Given the description of an element on the screen output the (x, y) to click on. 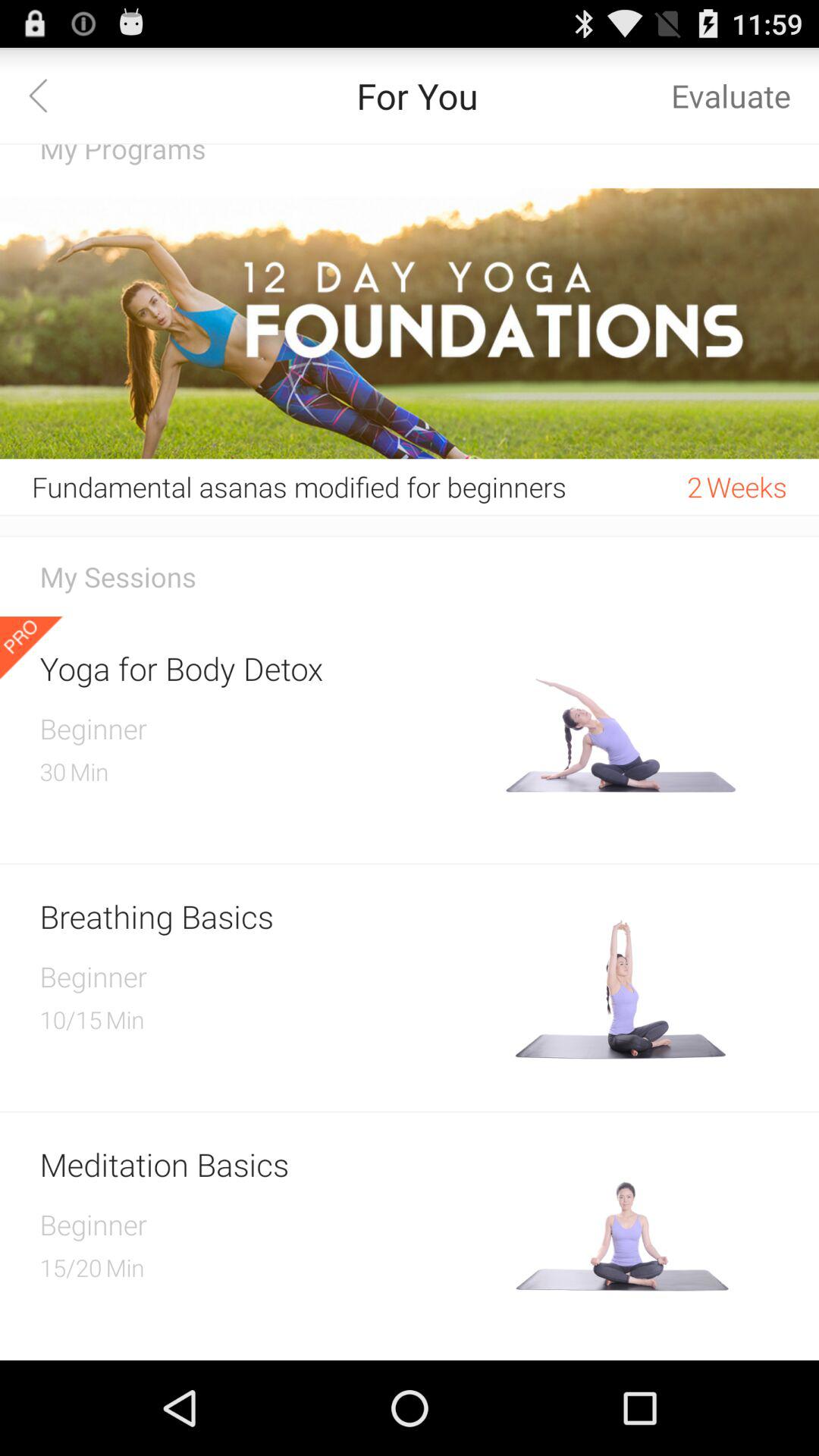
choose the icon above fundamental asanas modified (409, 323)
